Given the description of an element on the screen output the (x, y) to click on. 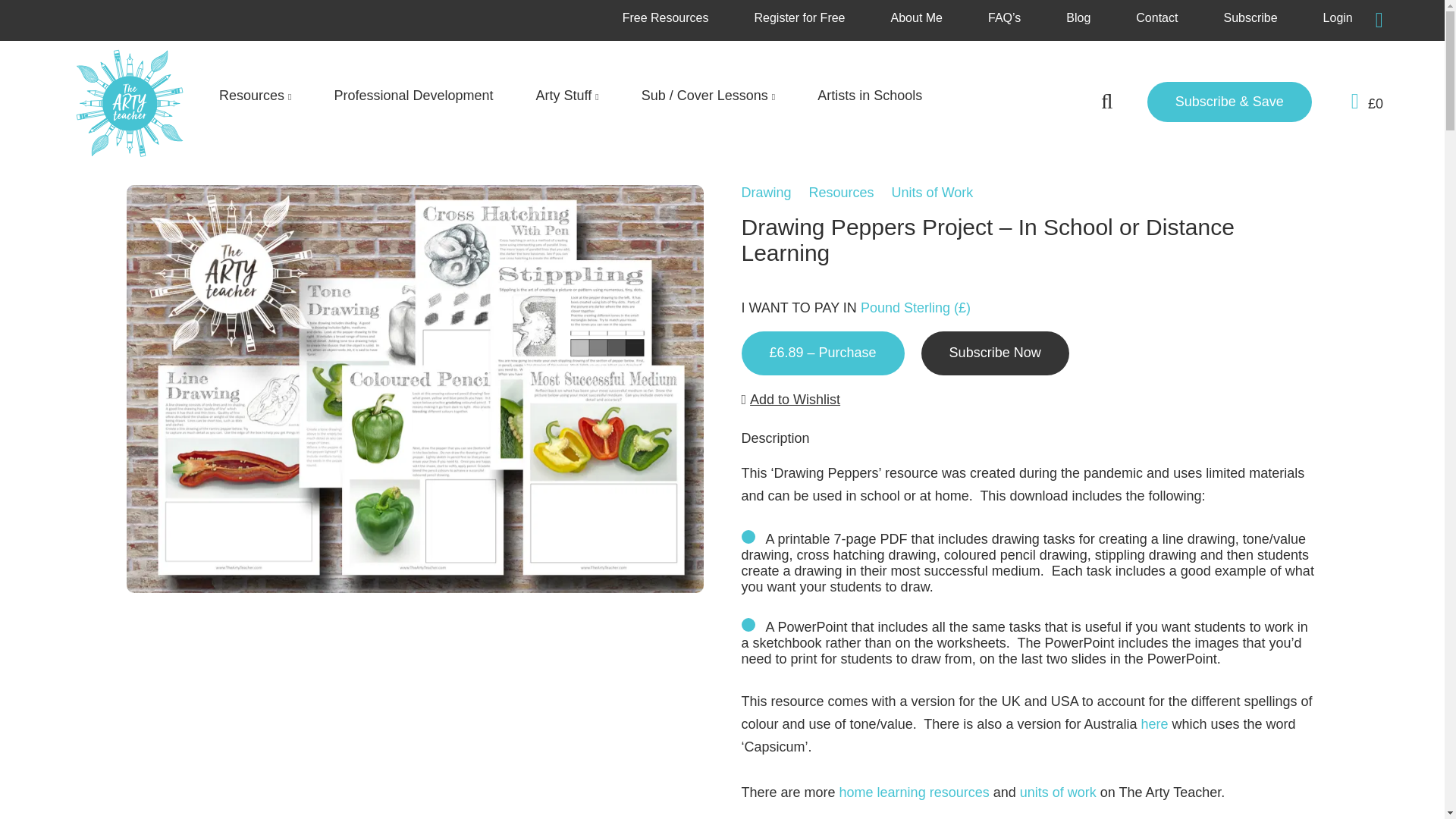
Contact (1156, 18)
Arty Stuff (567, 95)
Login (1337, 18)
Register for Free (798, 18)
Resources (255, 95)
Blog (1078, 18)
Subscribe (1249, 18)
Professional Development (413, 95)
Free Resources (665, 18)
About Me (916, 18)
